Given the description of an element on the screen output the (x, y) to click on. 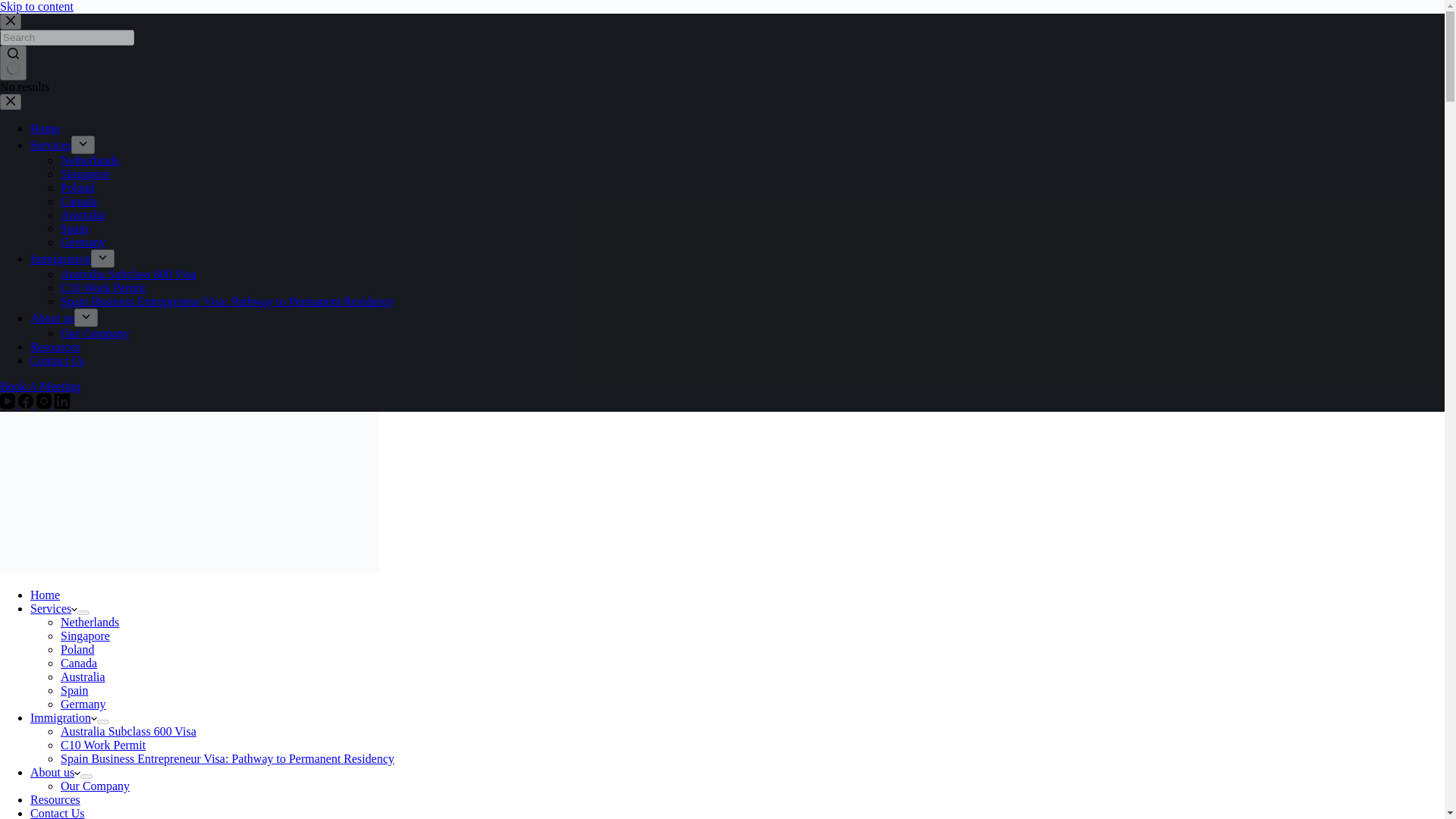
Home (44, 594)
Canada (79, 662)
Australia Subclass 600 Visa (128, 273)
Skip to content (37, 6)
Contact Us (57, 359)
Spain (74, 689)
Poland (77, 187)
Singapore (85, 173)
Germany (83, 703)
Singapore (85, 635)
